Given the description of an element on the screen output the (x, y) to click on. 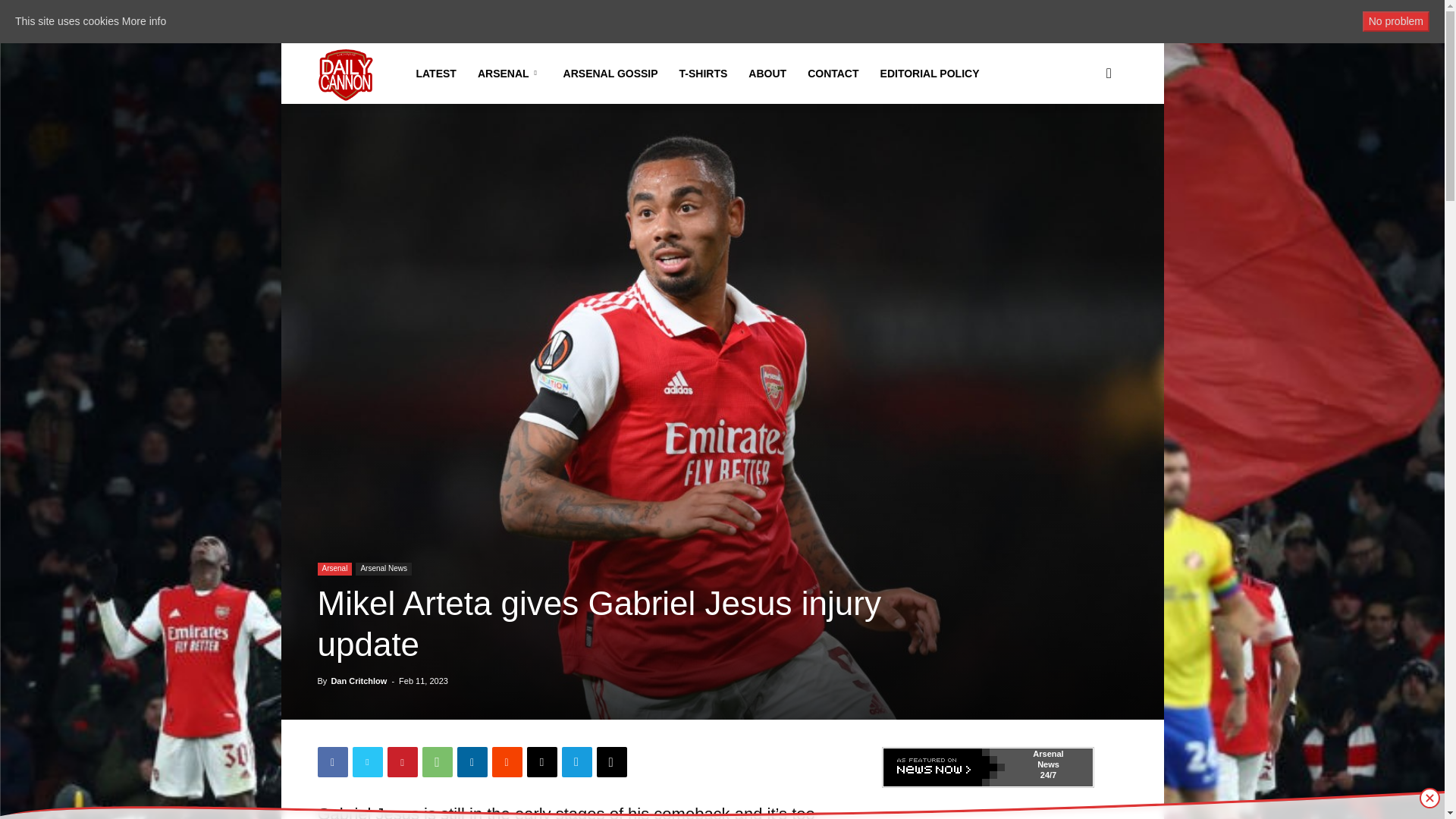
Pinterest (401, 761)
Linkedin (471, 761)
Copy URL (610, 761)
Search (1085, 146)
Facebook (332, 761)
WhatsApp (436, 761)
ReddIt (506, 761)
Twitter (366, 761)
Telegram (575, 761)
Email (540, 761)
